Given the description of an element on the screen output the (x, y) to click on. 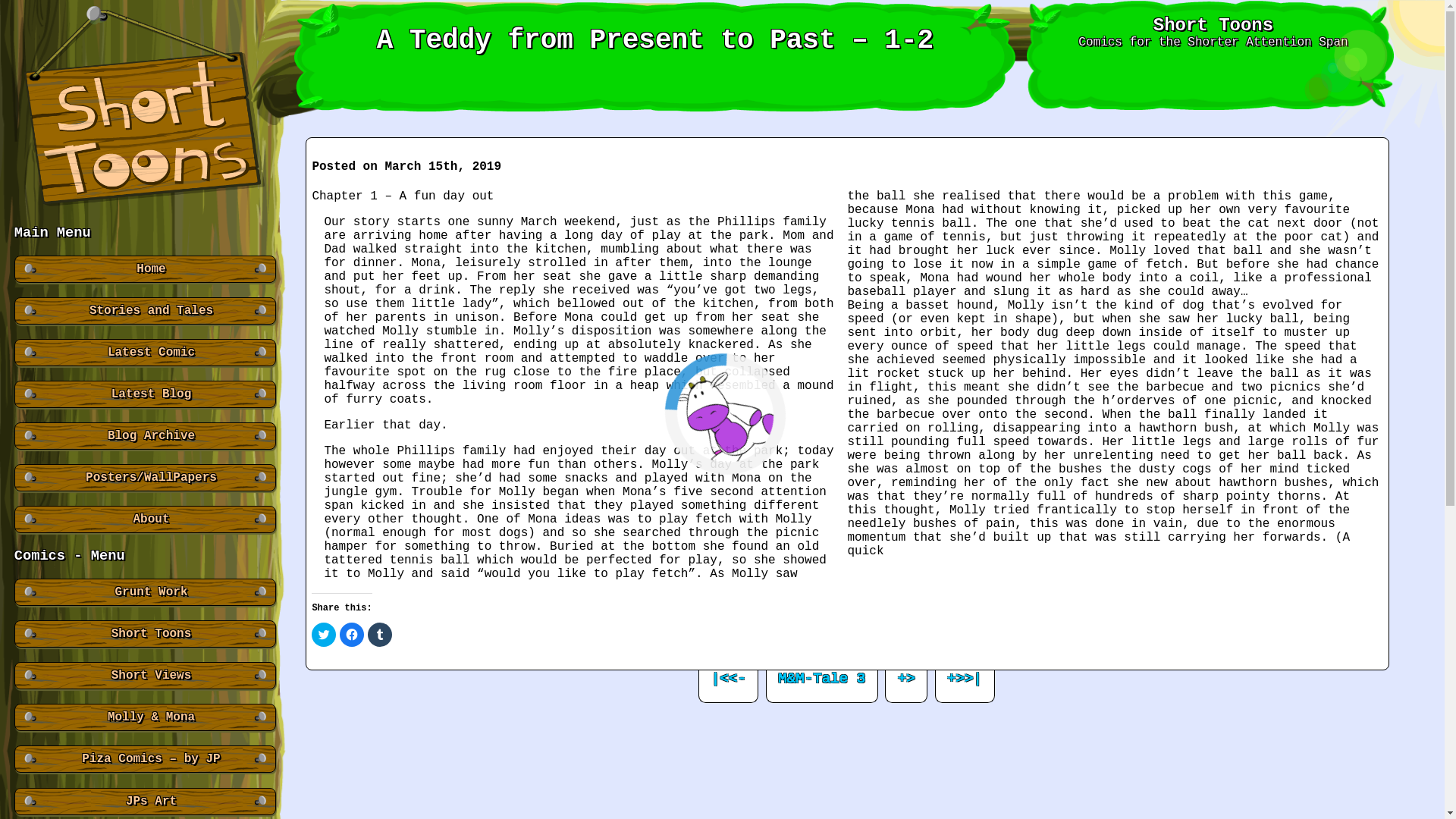
Grunt Work (144, 592)
Click to share on Tumblr (379, 634)
JPs Art (144, 801)
Short Toons (144, 633)
Blog Archive (144, 435)
Click to share on Twitter (323, 634)
Stories and Tales (144, 310)
Short Views (144, 675)
Home (144, 268)
About (144, 519)
Latest Comic (144, 352)
Latest Blog (144, 394)
Click to share on Facebook (351, 634)
